Given the description of an element on the screen output the (x, y) to click on. 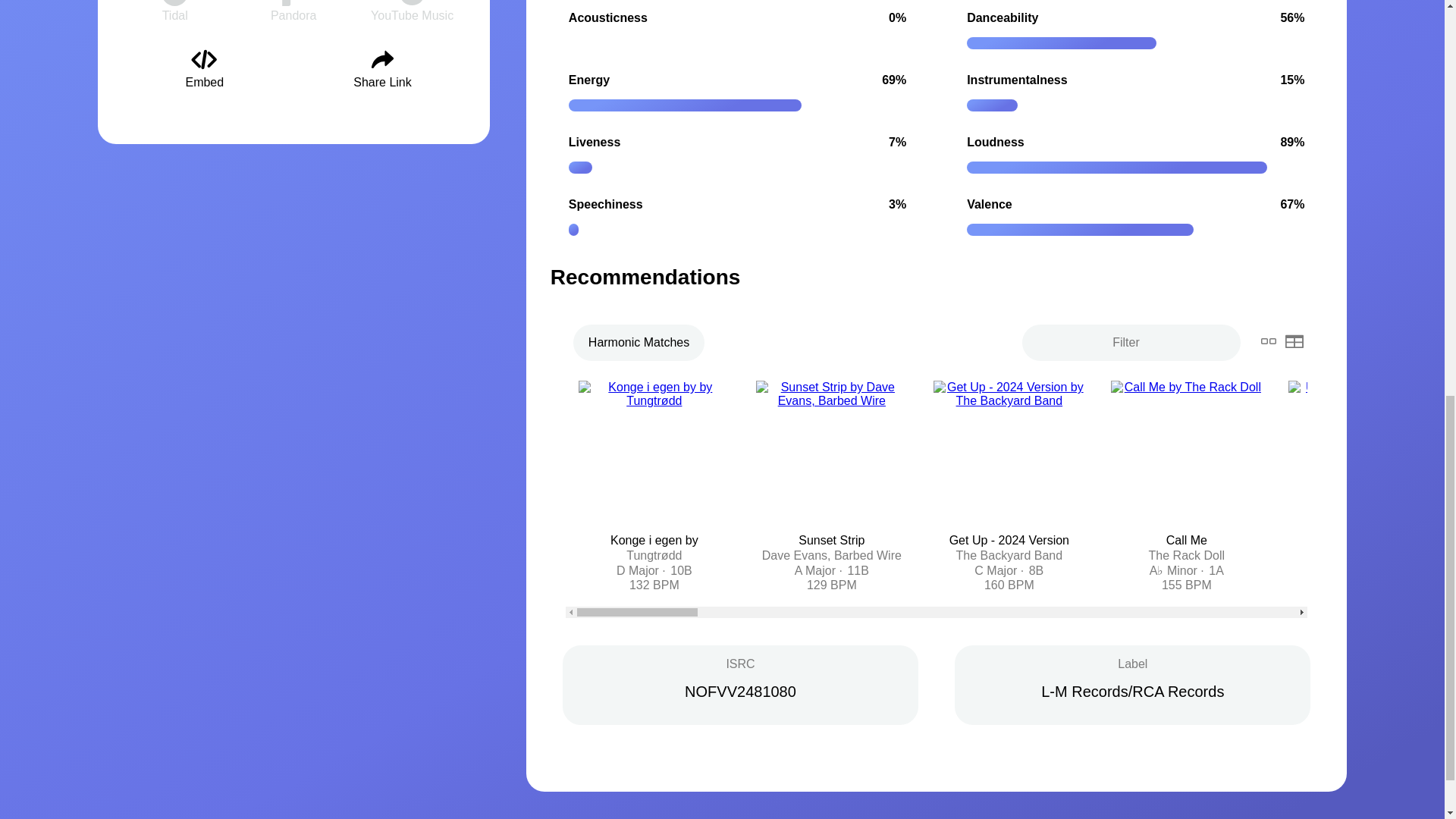
Tidal (174, 11)
Get Up - 2024 Version (1008, 540)
Konge i egen by (654, 540)
YouTube Music (411, 11)
Unlock the Rock (1364, 540)
Sunset Strip (830, 540)
Call Me (1186, 540)
Pandora (293, 11)
